Given the description of an element on the screen output the (x, y) to click on. 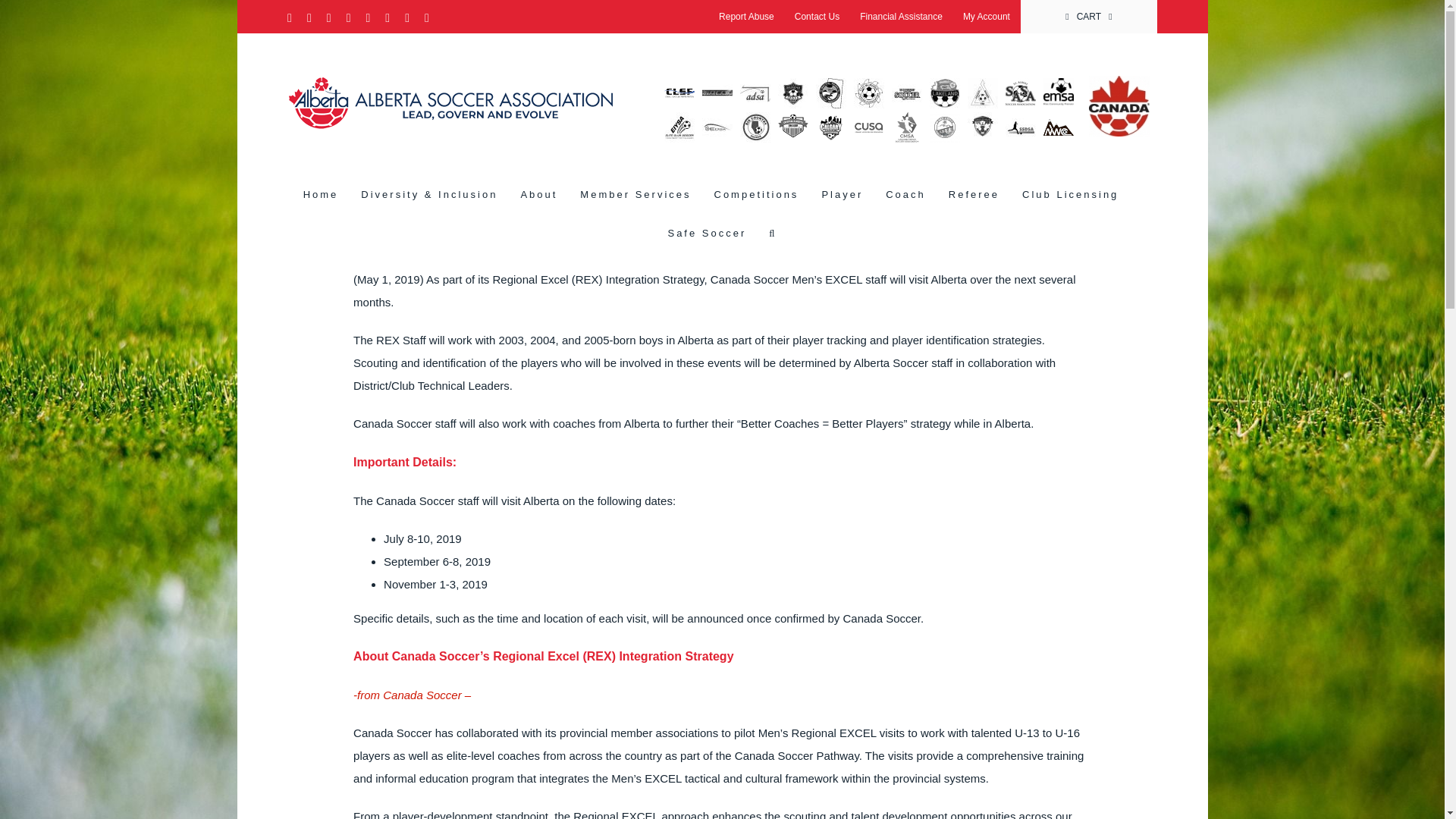
Canal Links Soccer (678, 88)
Contact Us (816, 16)
Sherwood Park District Soccer Association (792, 88)
My Account (986, 16)
Report Abuse (746, 16)
Airdrie and District Soccer Association (754, 88)
Fort McMurray Youth Soccer Association (868, 88)
Red Deer Soccer Association (716, 88)
Financial Assistance (901, 16)
CART (1088, 16)
